Given the description of an element on the screen output the (x, y) to click on. 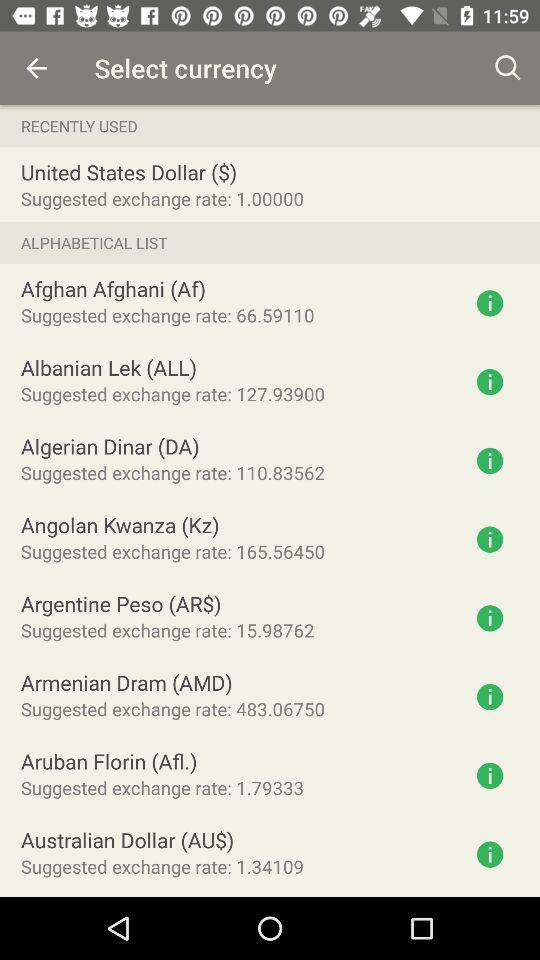
go to information (490, 854)
